Given the description of an element on the screen output the (x, y) to click on. 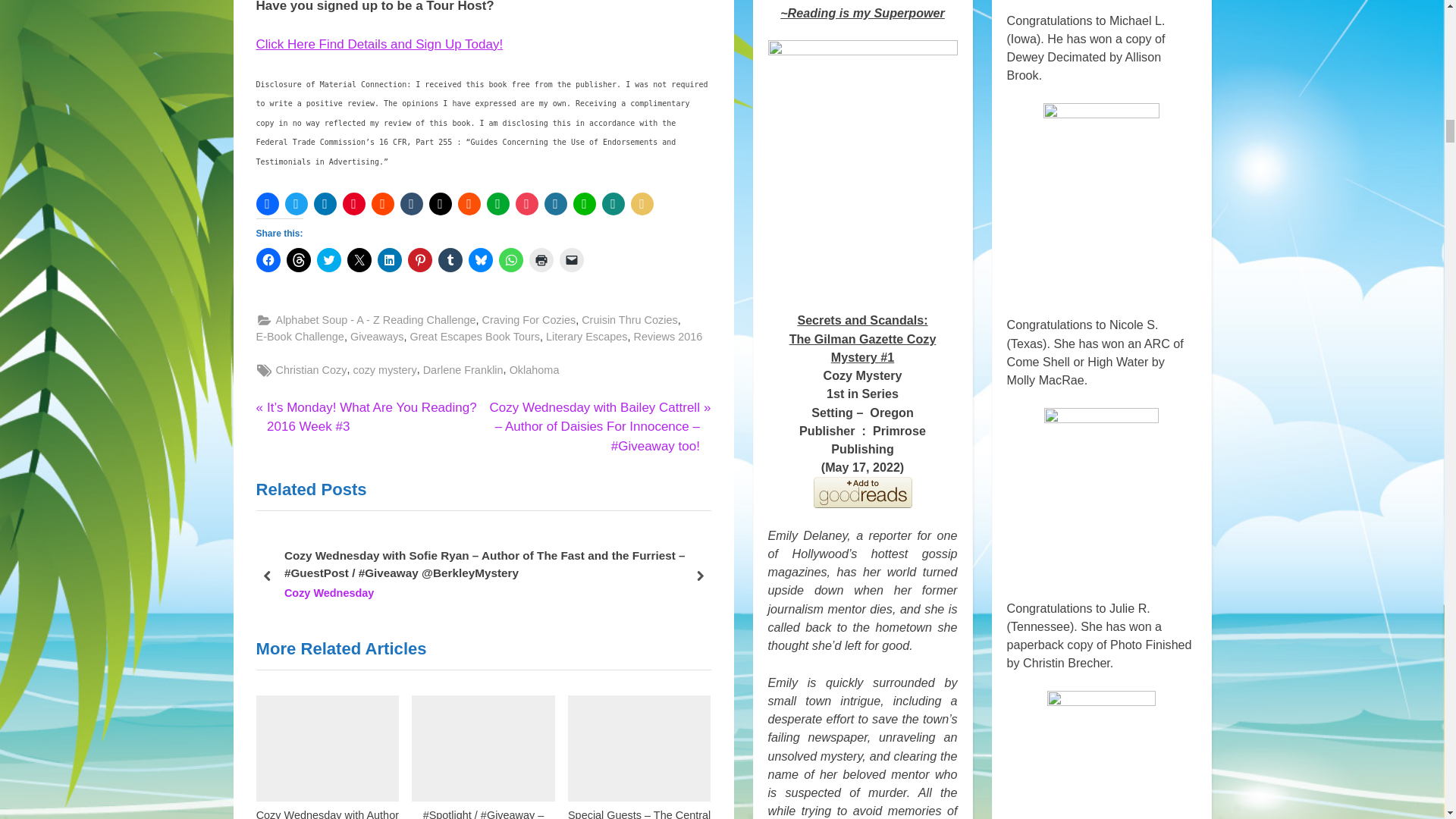
Click to share on Tumblr (450, 259)
Click to share on Bluesky (480, 259)
Click to share on Twitter (328, 259)
Click to share on Threads (298, 259)
Click to share on X (359, 259)
Click to print (541, 259)
Click to share on Facebook (268, 259)
Click to share on WhatsApp (510, 259)
Click to email a link to a friend (571, 259)
Click to share on LinkedIn (389, 259)
